Given the description of an element on the screen output the (x, y) to click on. 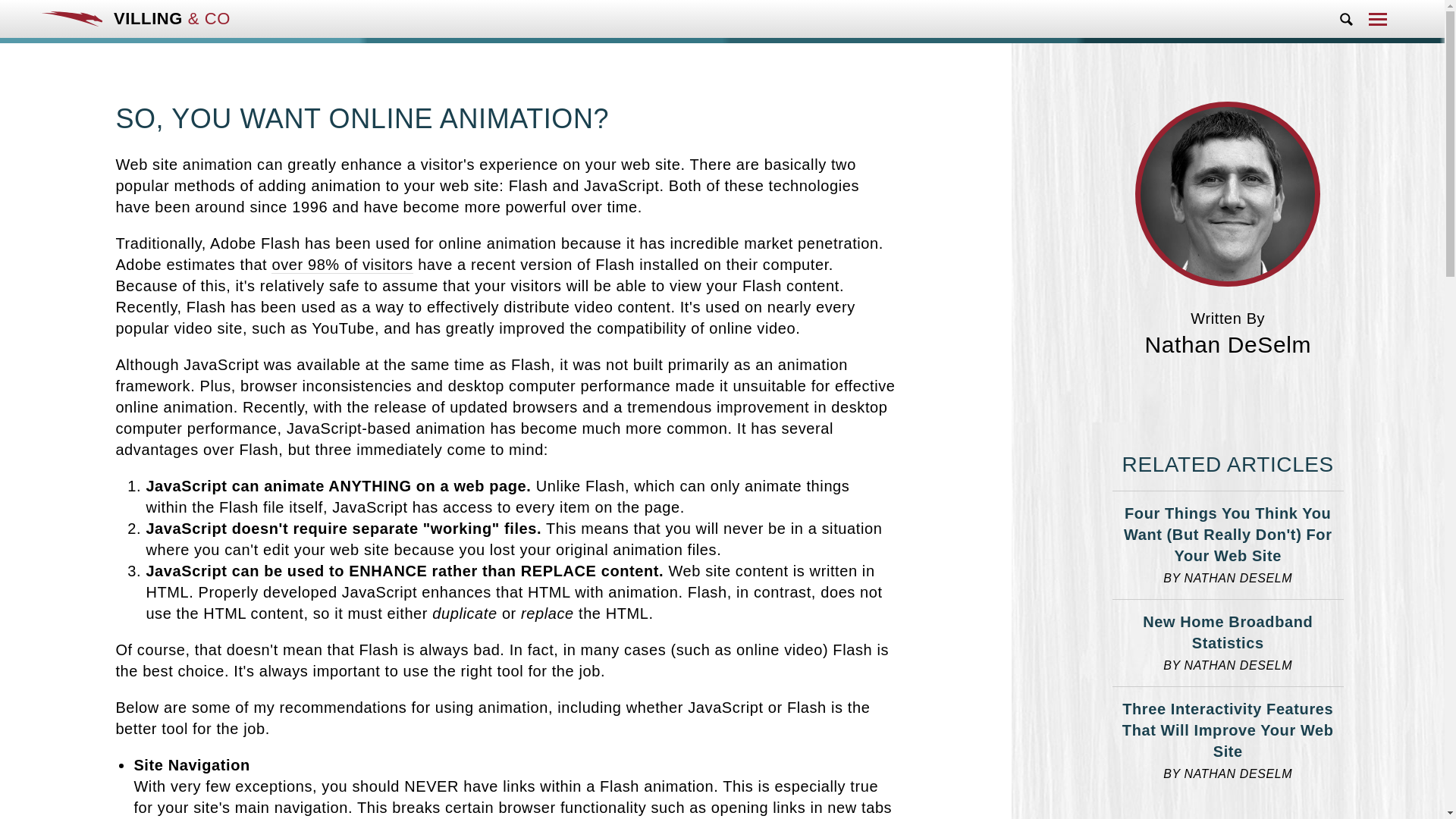
Toggle Menu (1377, 22)
New Home Broadband Statistics (1227, 632)
Three Interactivity Features That Will Improve Your Web Site (1227, 730)
